Given the description of an element on the screen output the (x, y) to click on. 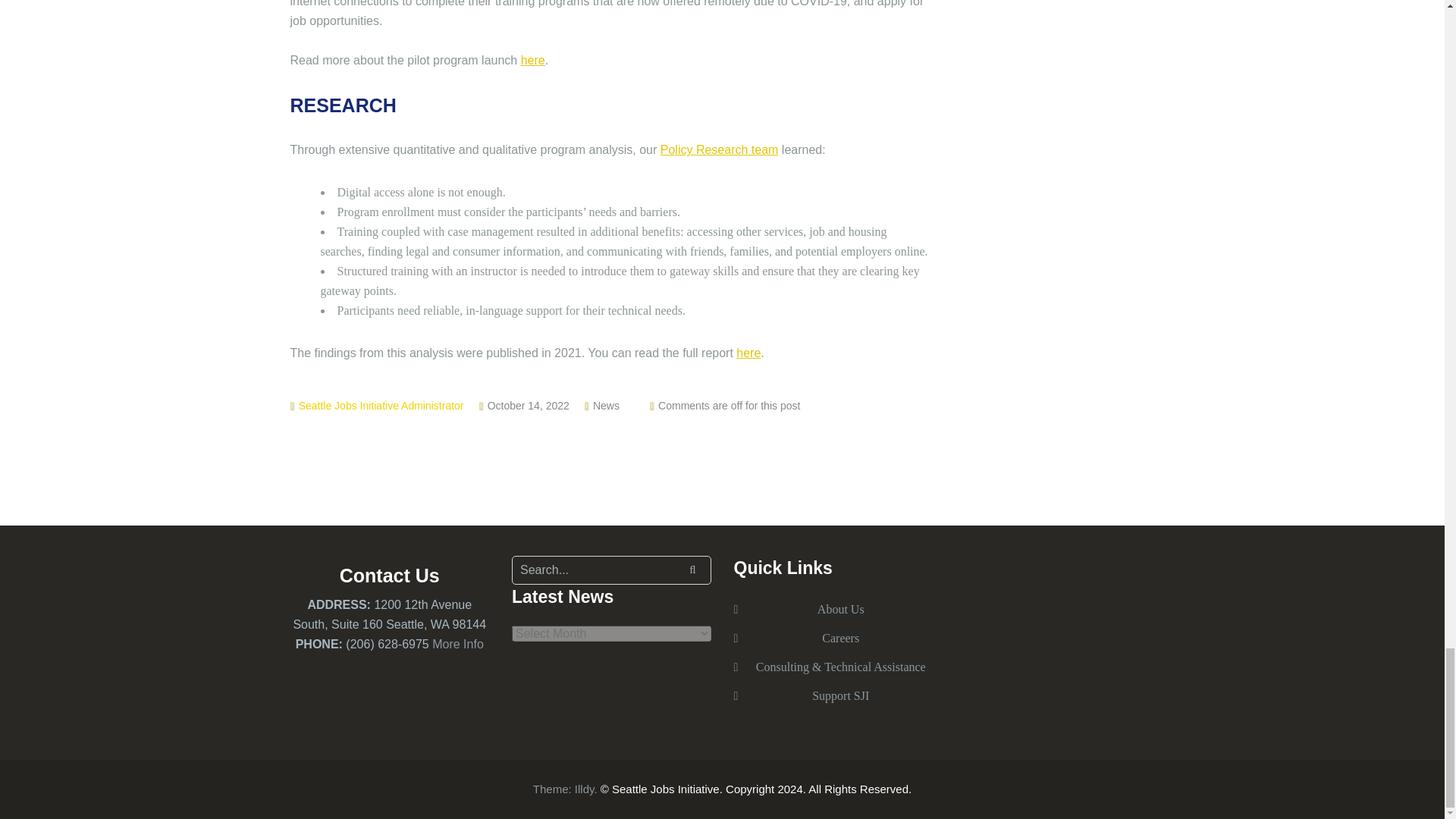
Illdy (584, 788)
Search for: (611, 570)
